Given the description of an element on the screen output the (x, y) to click on. 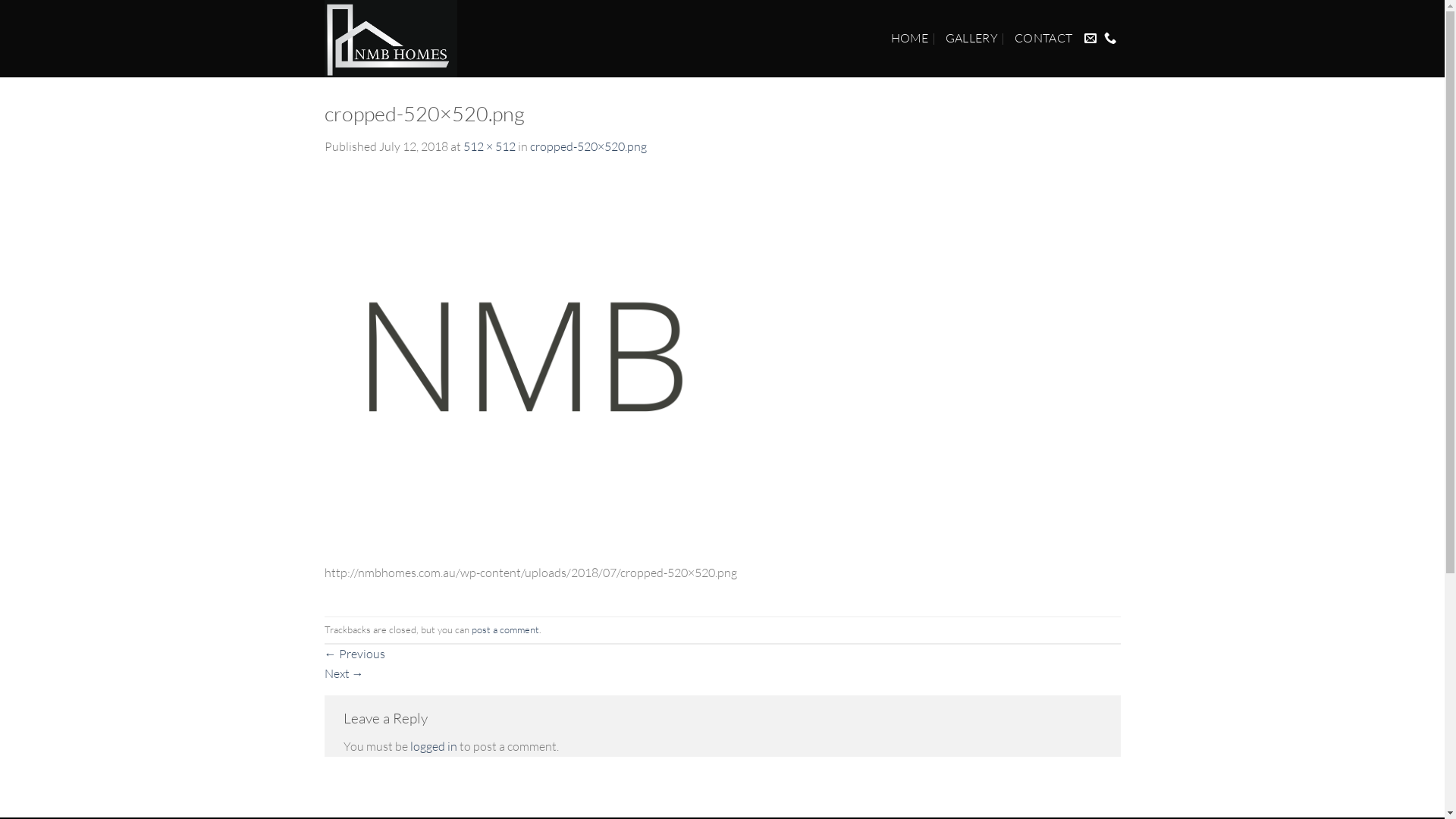
post a comment Element type: text (505, 629)
NMB Homes - Renovation Specialist Element type: hover (403, 38)
CONTACT Element type: text (1043, 38)
HOME Element type: text (909, 38)
GALLERY Element type: text (971, 38)
logged in Element type: text (432, 745)
